Given the description of an element on the screen output the (x, y) to click on. 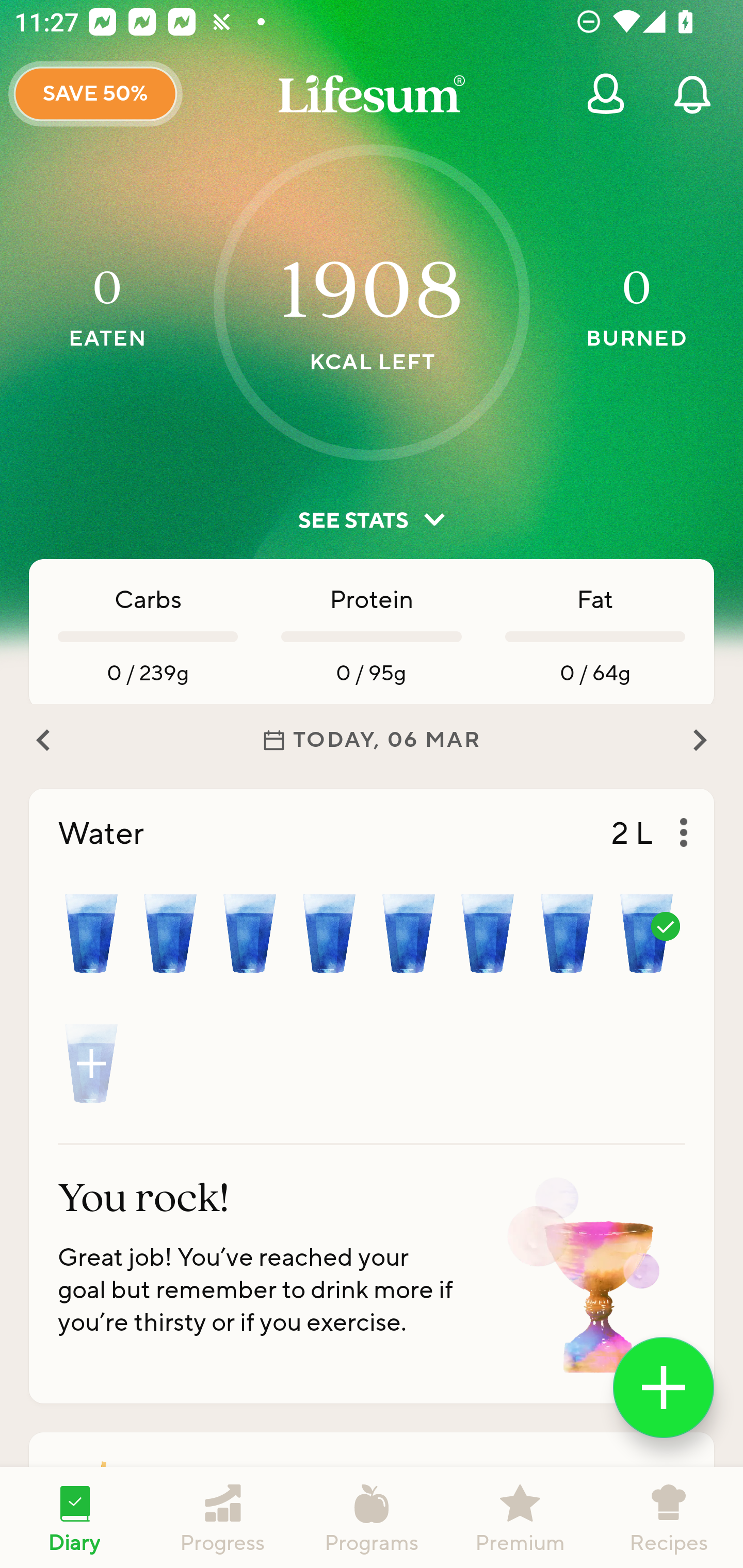
SEE STATS (371, 519)
TODAY, 06 MAR (371, 739)
Progress (222, 1517)
Programs (371, 1517)
Premium (519, 1517)
Recipes (668, 1517)
